Given the description of an element on the screen output the (x, y) to click on. 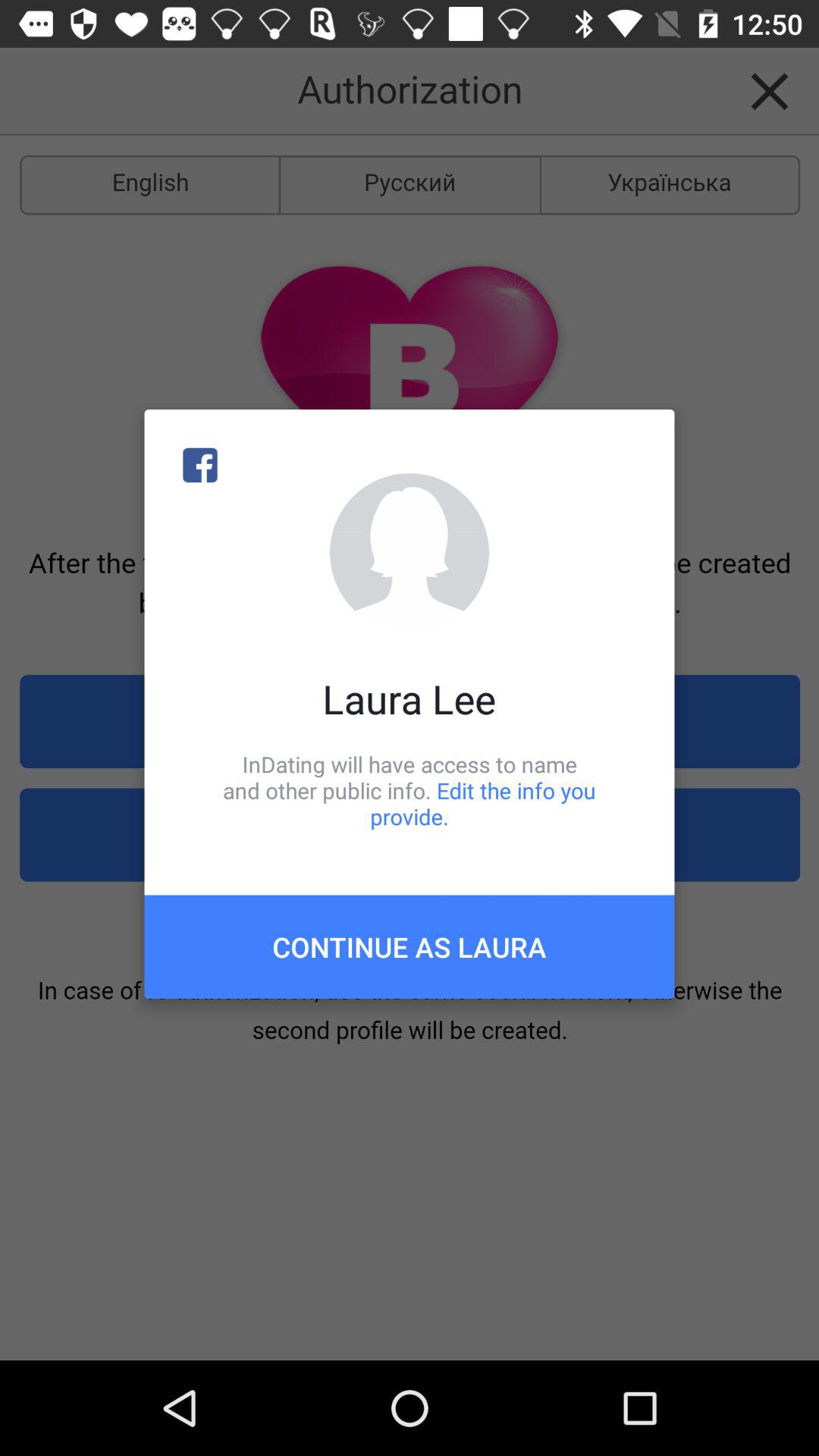
press continue as laura item (409, 946)
